Given the description of an element on the screen output the (x, y) to click on. 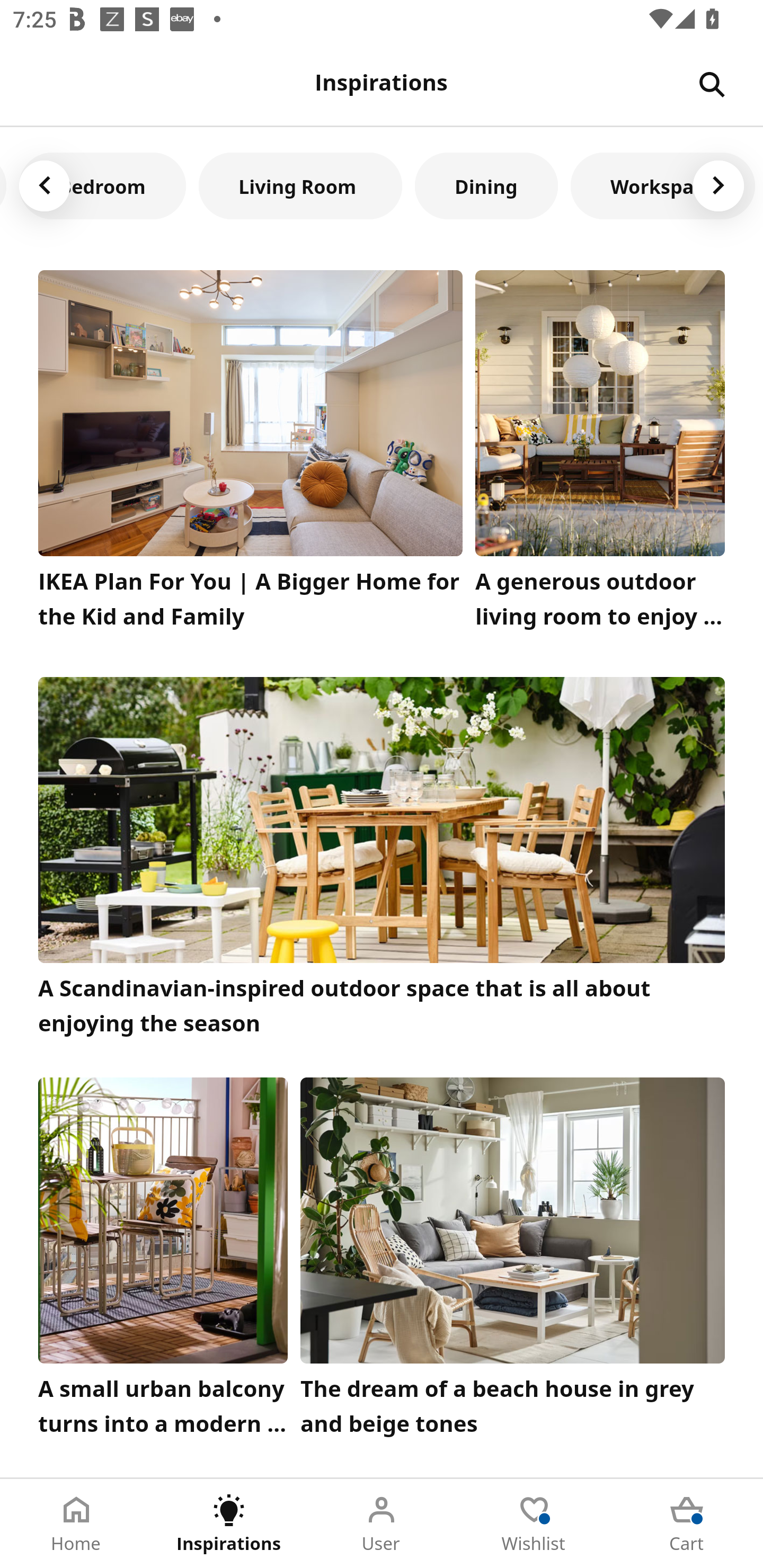
Living Room  (300, 185)
Dining (486, 185)
The dream of a beach house in grey and beige tones (512, 1261)
Home
Tab 1 of 5 (76, 1522)
Inspirations
Tab 2 of 5 (228, 1522)
User
Tab 3 of 5 (381, 1522)
Wishlist
Tab 4 of 5 (533, 1522)
Cart
Tab 5 of 5 (686, 1522)
